Given the description of an element on the screen output the (x, y) to click on. 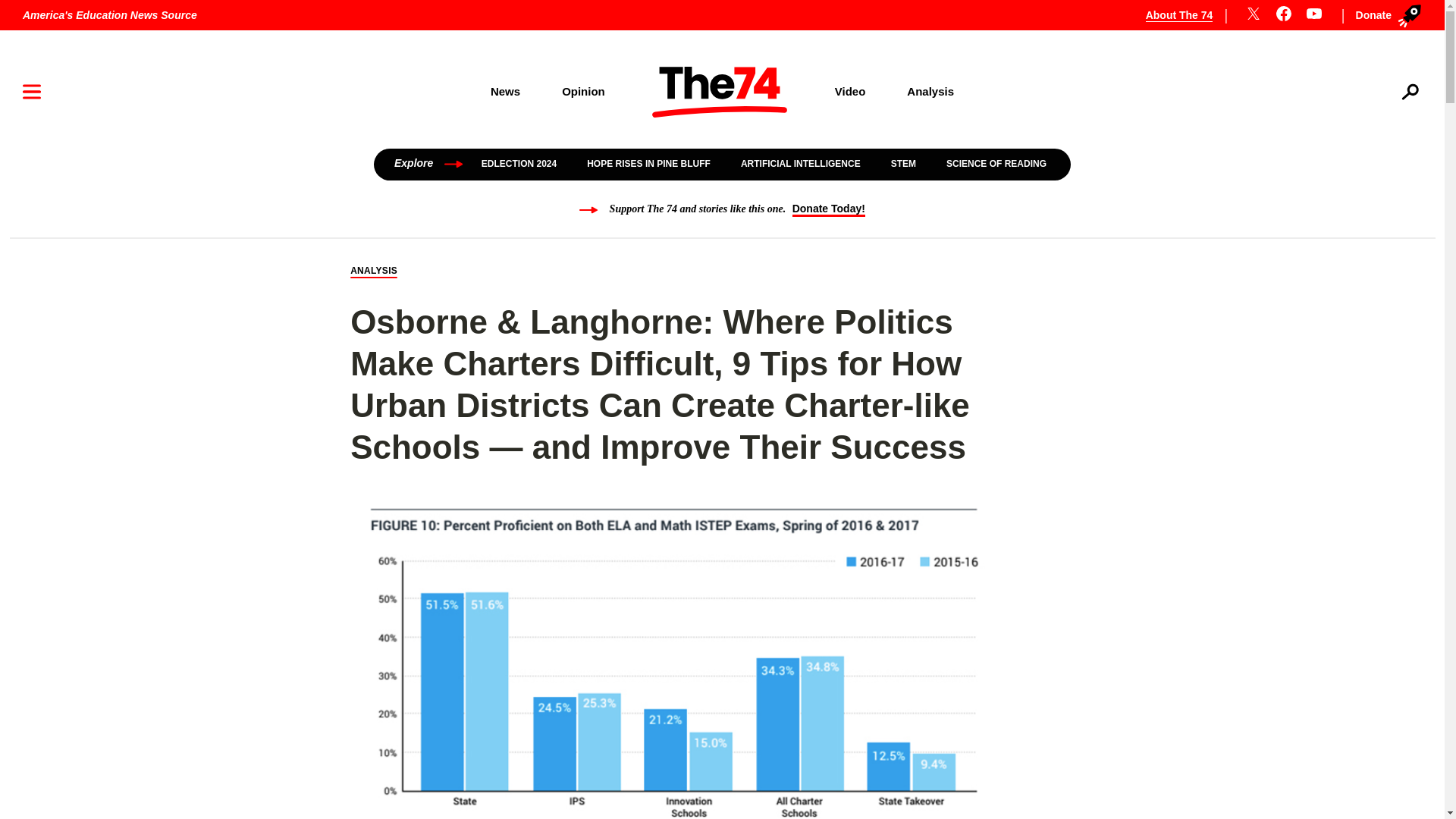
About The 74 (1187, 15)
Opinion (583, 91)
Home (719, 91)
Submit (1389, 139)
News (504, 91)
Analysis (930, 91)
Video (849, 91)
Donate (1385, 15)
America's Education News Source (109, 15)
